Given the description of an element on the screen output the (x, y) to click on. 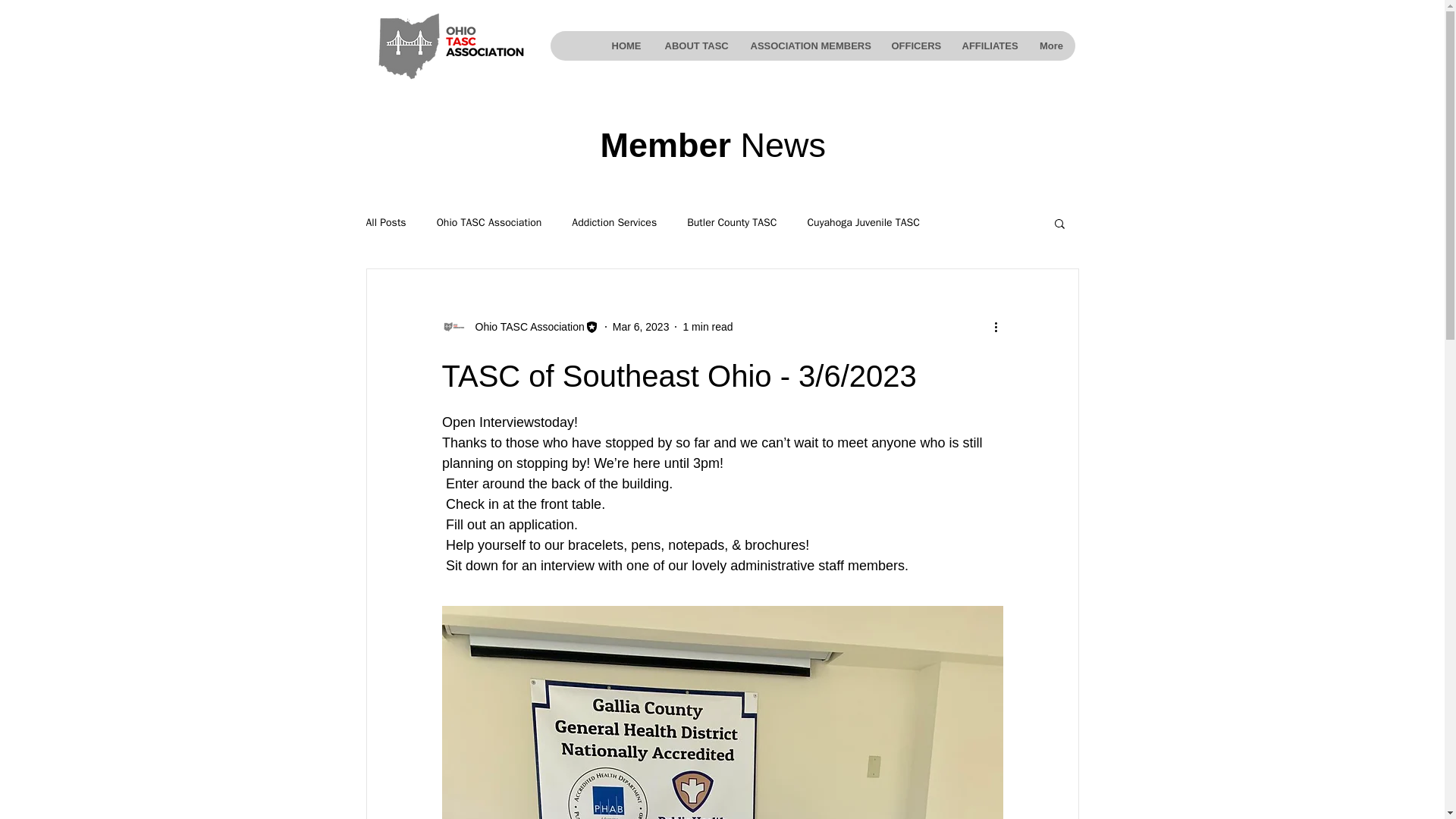
Cuyahoga Juvenile TASC (862, 223)
Mar 6, 2023 (640, 326)
ABOUT TASC (695, 45)
Ohio TASC Association (524, 326)
Butler County TASC (731, 223)
HOME (625, 45)
OFFICERS (914, 45)
Addiction Services (614, 223)
1 min read (707, 326)
Ohio TASC Association (488, 223)
